Given the description of an element on the screen output the (x, y) to click on. 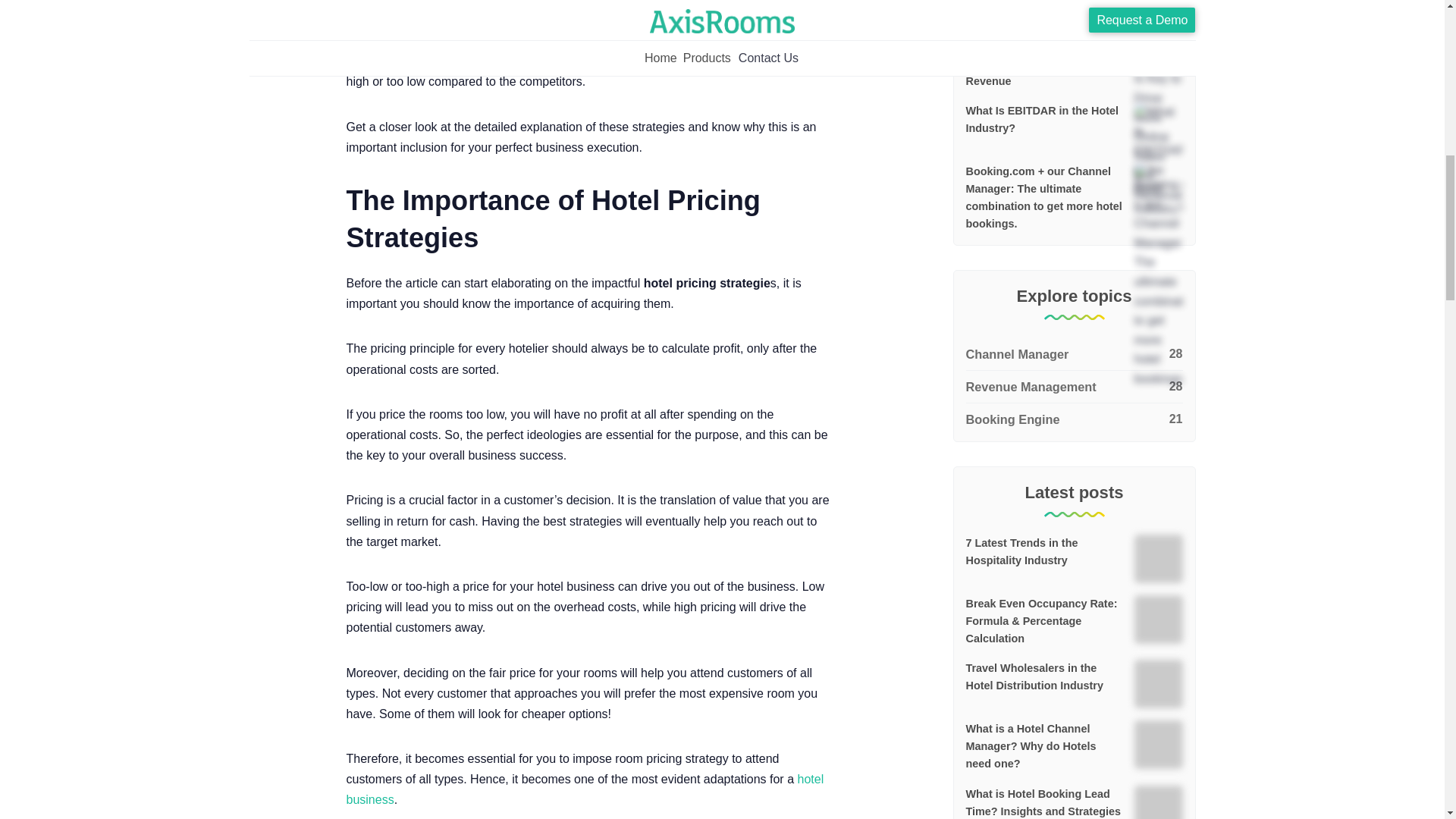
Revenue Management (1074, 387)
Technology Is Key to Drive More Online Sales and Revenue (1035, 63)
Booking Engine (1074, 416)
What Is EBITDAR in the Hotel Industry? (1042, 119)
hotel business (585, 789)
Channel Manager (1074, 354)
